Given the description of an element on the screen output the (x, y) to click on. 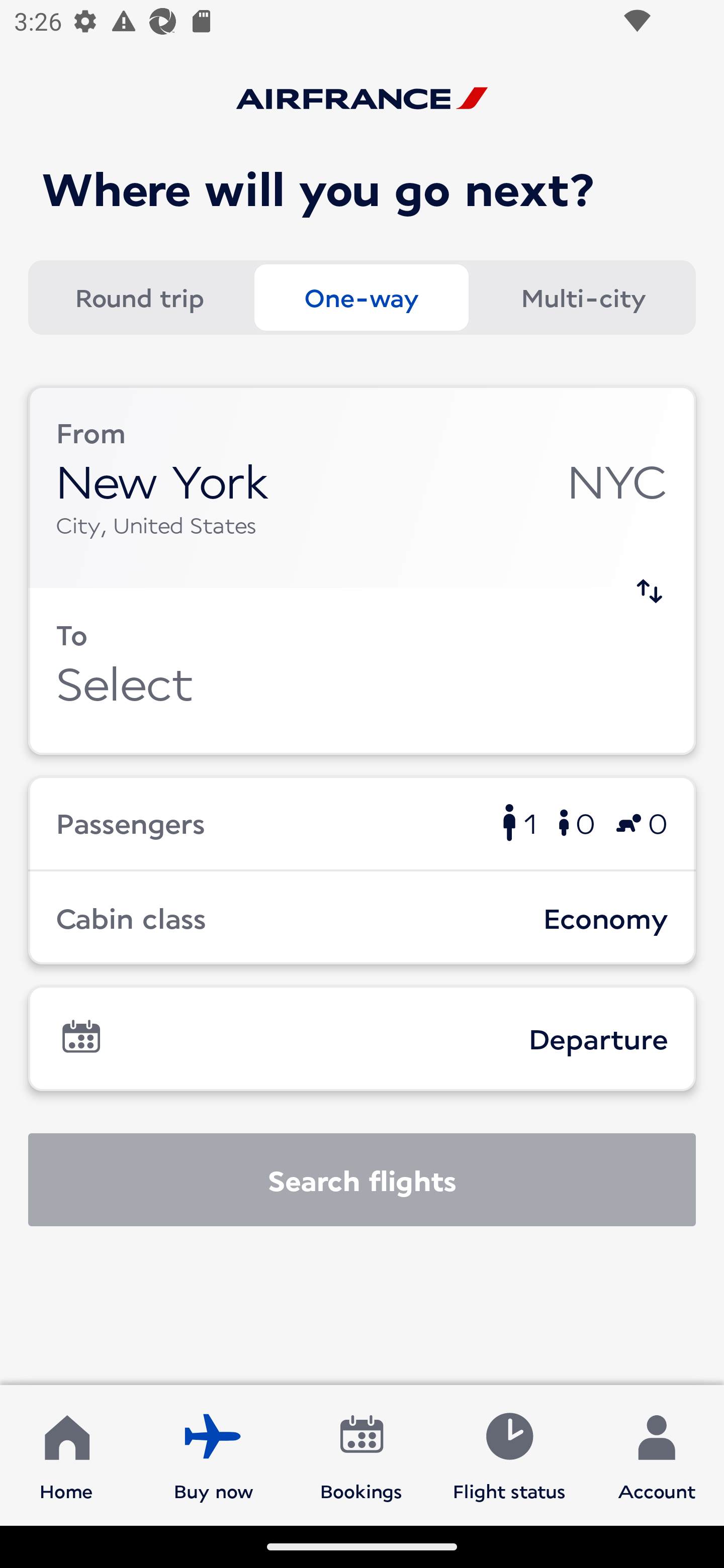
Round trip (139, 297)
One-way (361, 297)
Multi-city (583, 297)
From New York NYC City, United States (361, 486)
To Select (361, 671)
Passengers 1 0 0 (361, 822)
Cabin class Economy (361, 917)
Departure (361, 1038)
Search flights (361, 1179)
Home (66, 1454)
Bookings (361, 1454)
Flight status (509, 1454)
Account (657, 1454)
